Given the description of an element on the screen output the (x, y) to click on. 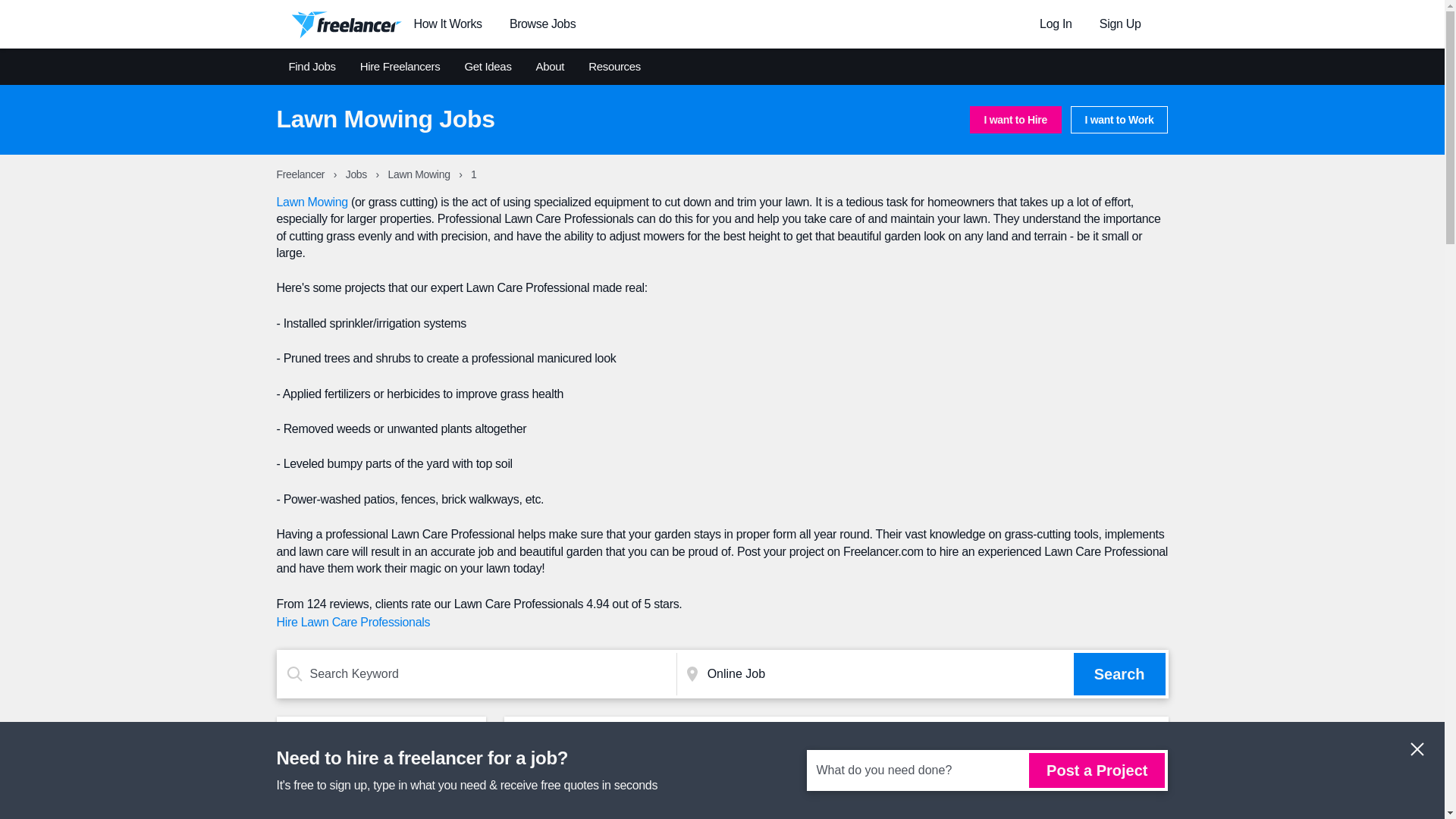
I want to Work (1119, 119)
Lawn Mowing (420, 174)
Jobs (357, 174)
Search (1120, 673)
How It Works (447, 24)
Browse Jobs (542, 24)
Find Jobs (311, 66)
Freelancer (301, 174)
Get Ideas (487, 66)
Online Job (887, 673)
Hire Freelancers (400, 66)
Online Job (887, 673)
Resources (614, 66)
Sign Up (1120, 23)
Hire Lawn Care Professionals (352, 621)
